Given the description of an element on the screen output the (x, y) to click on. 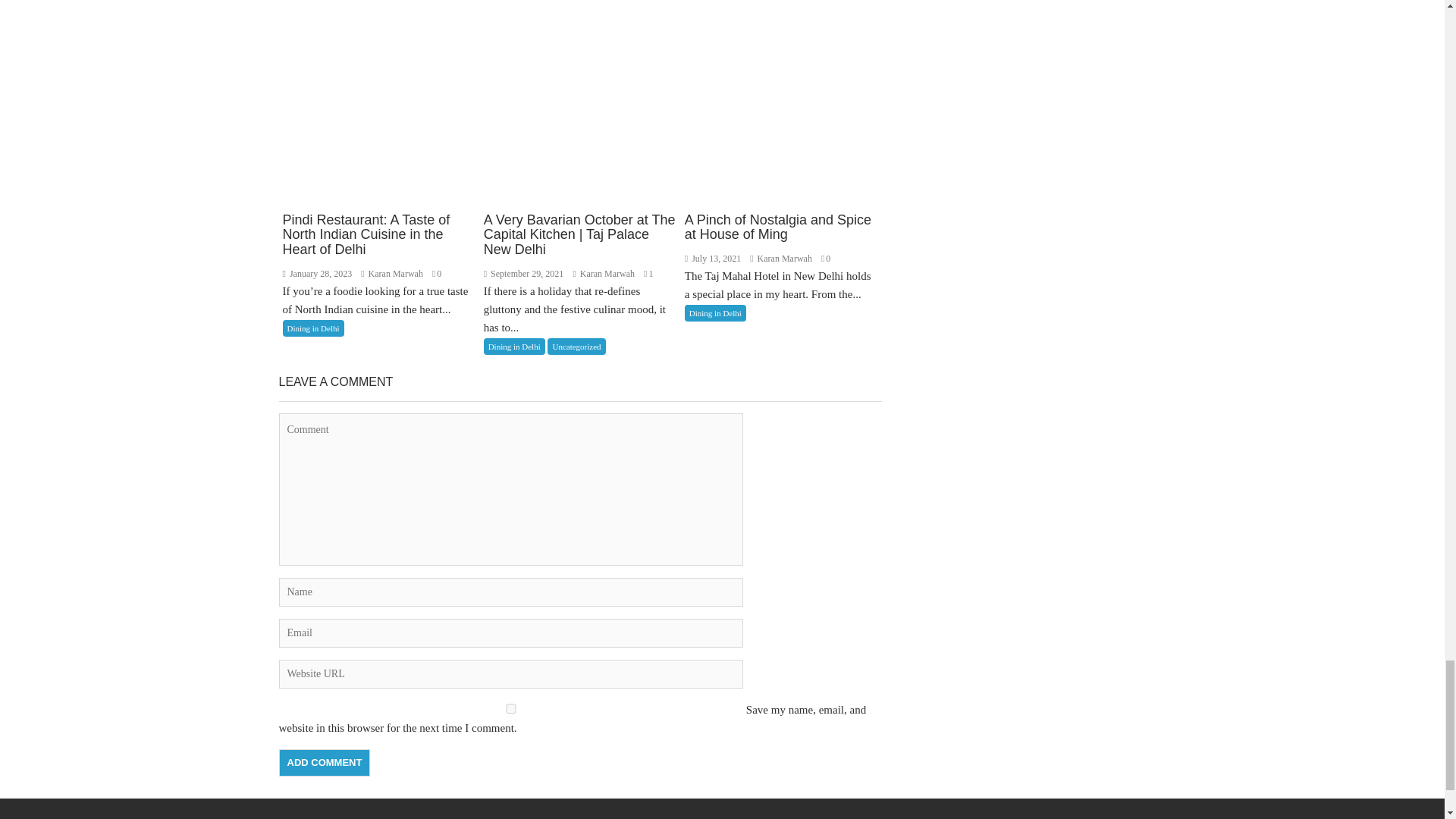
Add Comment (325, 762)
Karan Marwah (604, 273)
Karan Marwah (781, 258)
yes (511, 708)
Karan Marwah (393, 273)
